Given the description of an element on the screen output the (x, y) to click on. 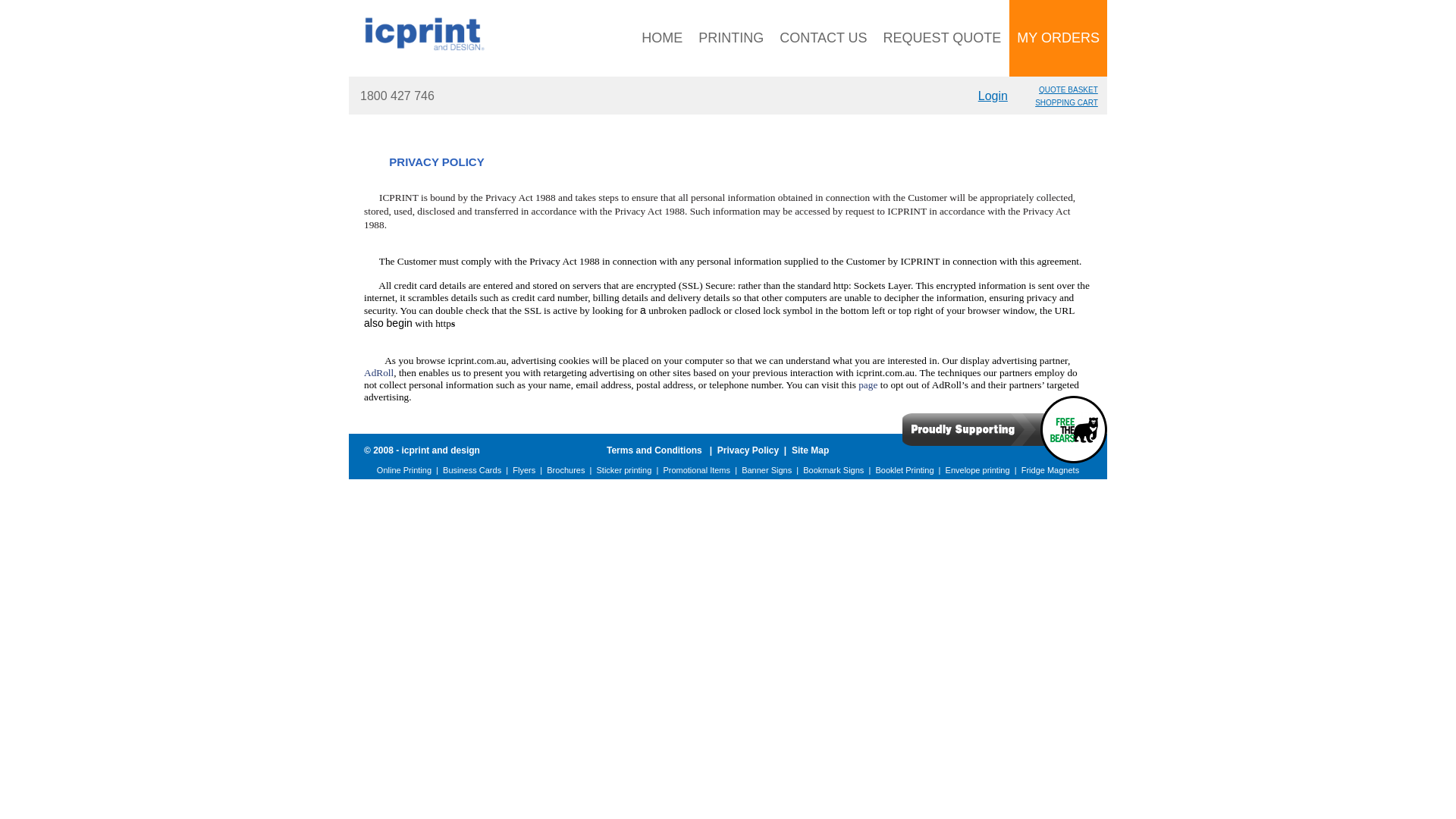
Envelope printing Element type: text (977, 469)
Login Element type: text (992, 95)
Promotional Items Element type: text (696, 469)
Booklet Printing Element type: text (904, 469)
Privacy Policy  |   Element type: text (754, 450)
HOME Element type: text (661, 38)
Fridge Magnets Element type: text (1050, 469)
Business Cards Element type: text (471, 469)
PRINTING Element type: text (730, 38)
page Element type: text (869, 384)
Bookmark Signs Element type: text (833, 469)
Site Map Element type: text (809, 450)
REQUEST QUOTE Element type: text (942, 38)
CONTACT US Element type: text (822, 38)
MY ORDERS Element type: text (1058, 38)
Online Printing Element type: text (403, 469)
AdRoll Element type: text (378, 372)
Banner Signs Element type: text (766, 469)
Sticker printing Element type: text (624, 469)
Brochures Element type: text (565, 469)
Flyers Element type: text (523, 469)
QUOTE BASKET Element type: text (1068, 89)
Terms and Conditions   |   Element type: text (661, 450)
SHOPPING CART Element type: text (1066, 102)
